Given the description of an element on the screen output the (x, y) to click on. 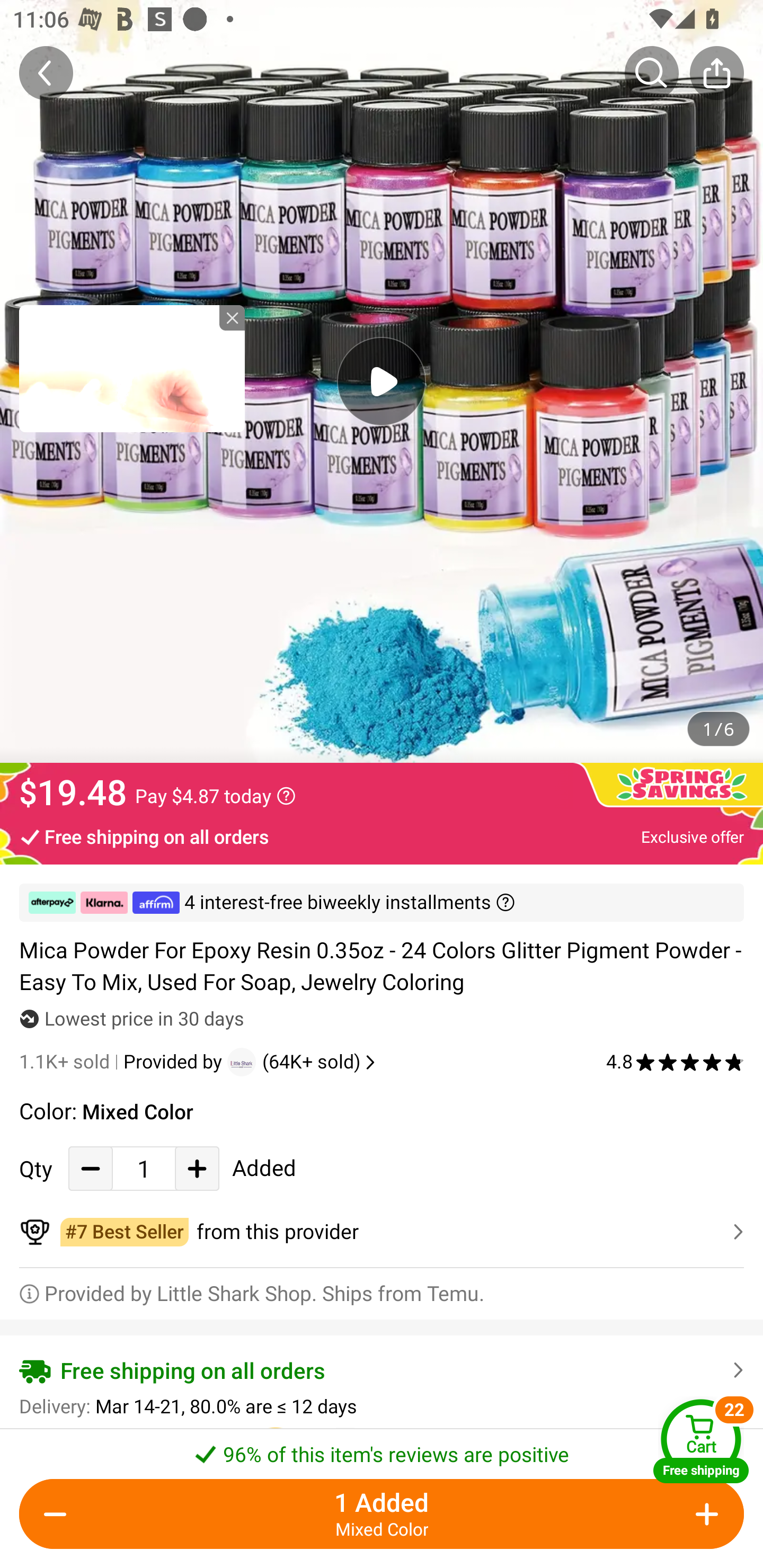
Back (46, 72)
Share (716, 72)
tronplayer_view (131, 368)
Pay $4.87 today   (215, 795)
Free shipping on all orders Exclusive offer (381, 836)
￼ ￼ ￼ 4 interest-free biweekly installments ￼ (381, 902)
4.8 (674, 1061)
Decrease Quantity Button (90, 1168)
1 (143, 1168)
Add Quantity button (196, 1168)
￼￼from this provider (381, 1231)
Cart Free shipping Cart (701, 1440)
￼￼96% of this item's reviews are positive (381, 1448)
Decrease Quantity Button (59, 1513)
Add Quantity button (703, 1513)
